Given the description of an element on the screen output the (x, y) to click on. 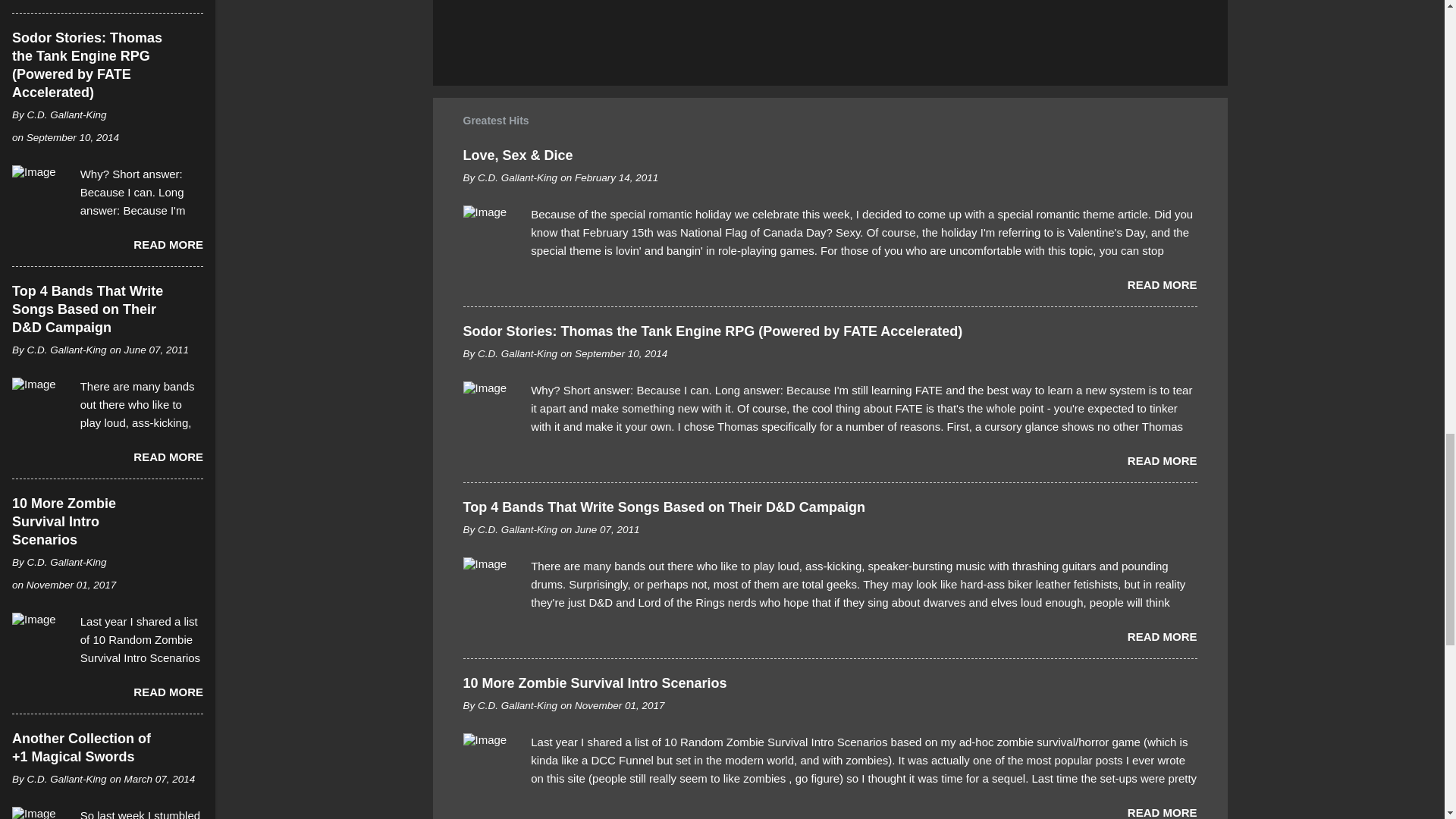
author profile (517, 177)
